Given the description of an element on the screen output the (x, y) to click on. 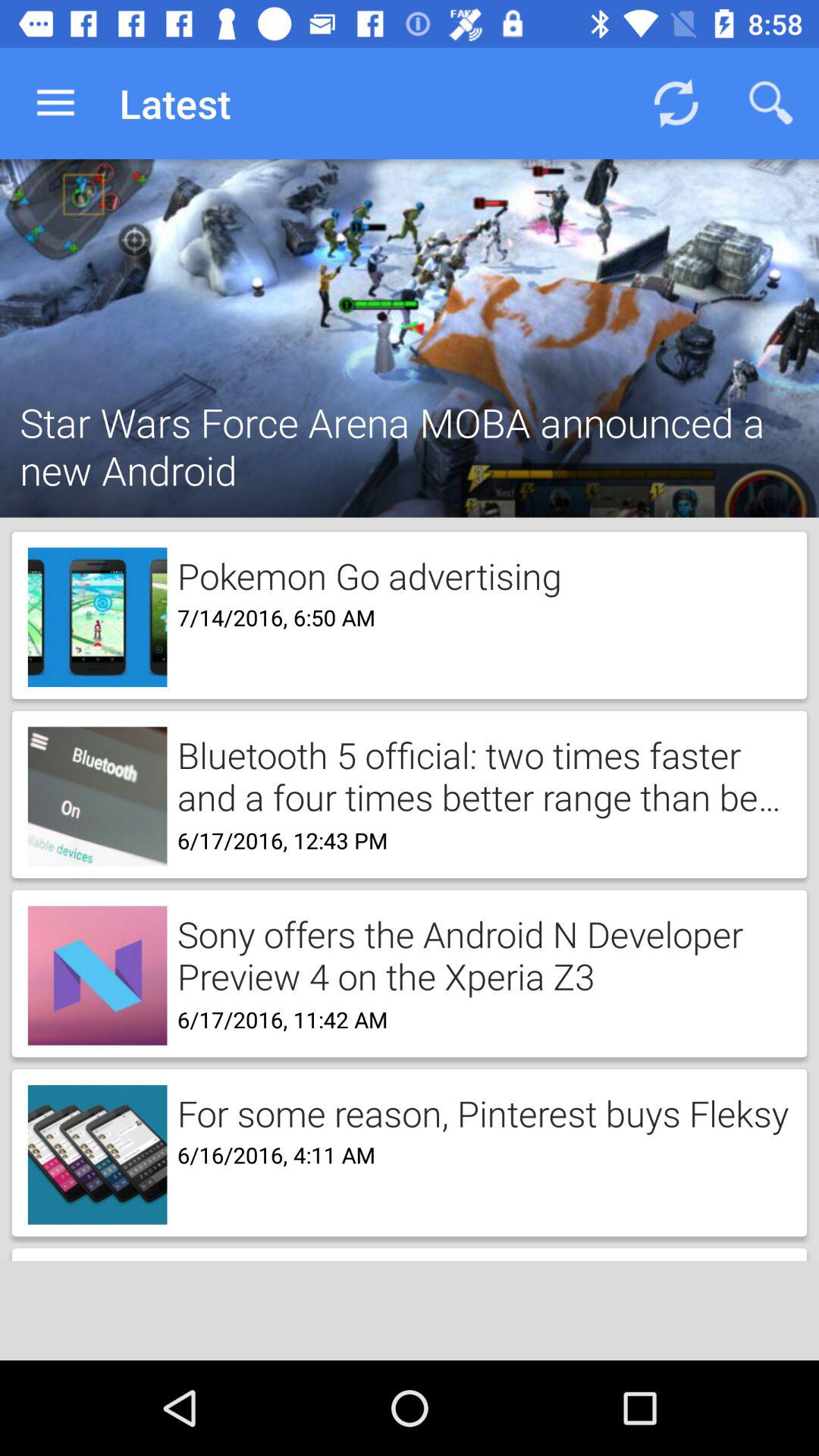
choose the icon to the left of the latest item (55, 103)
